Given the description of an element on the screen output the (x, y) to click on. 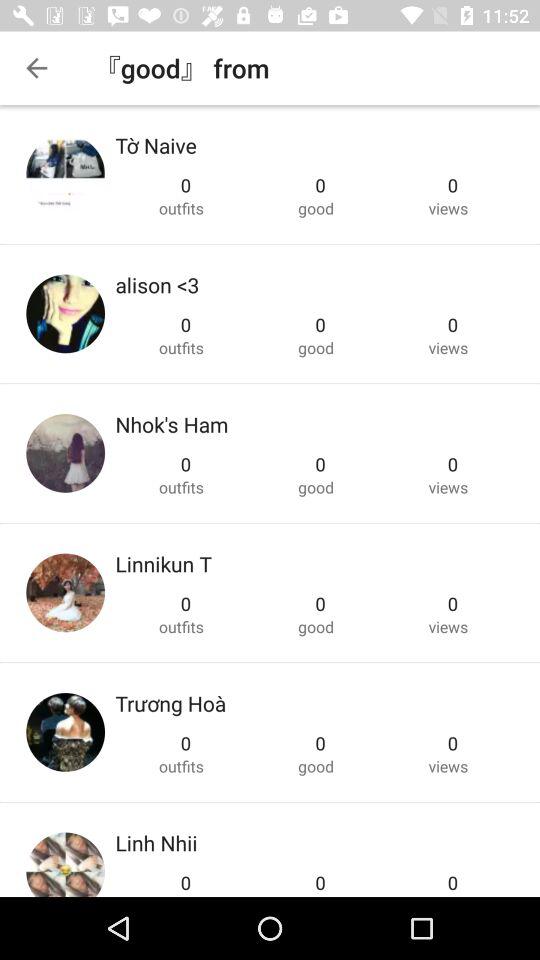
launch linh nhii icon (156, 842)
